Given the description of an element on the screen output the (x, y) to click on. 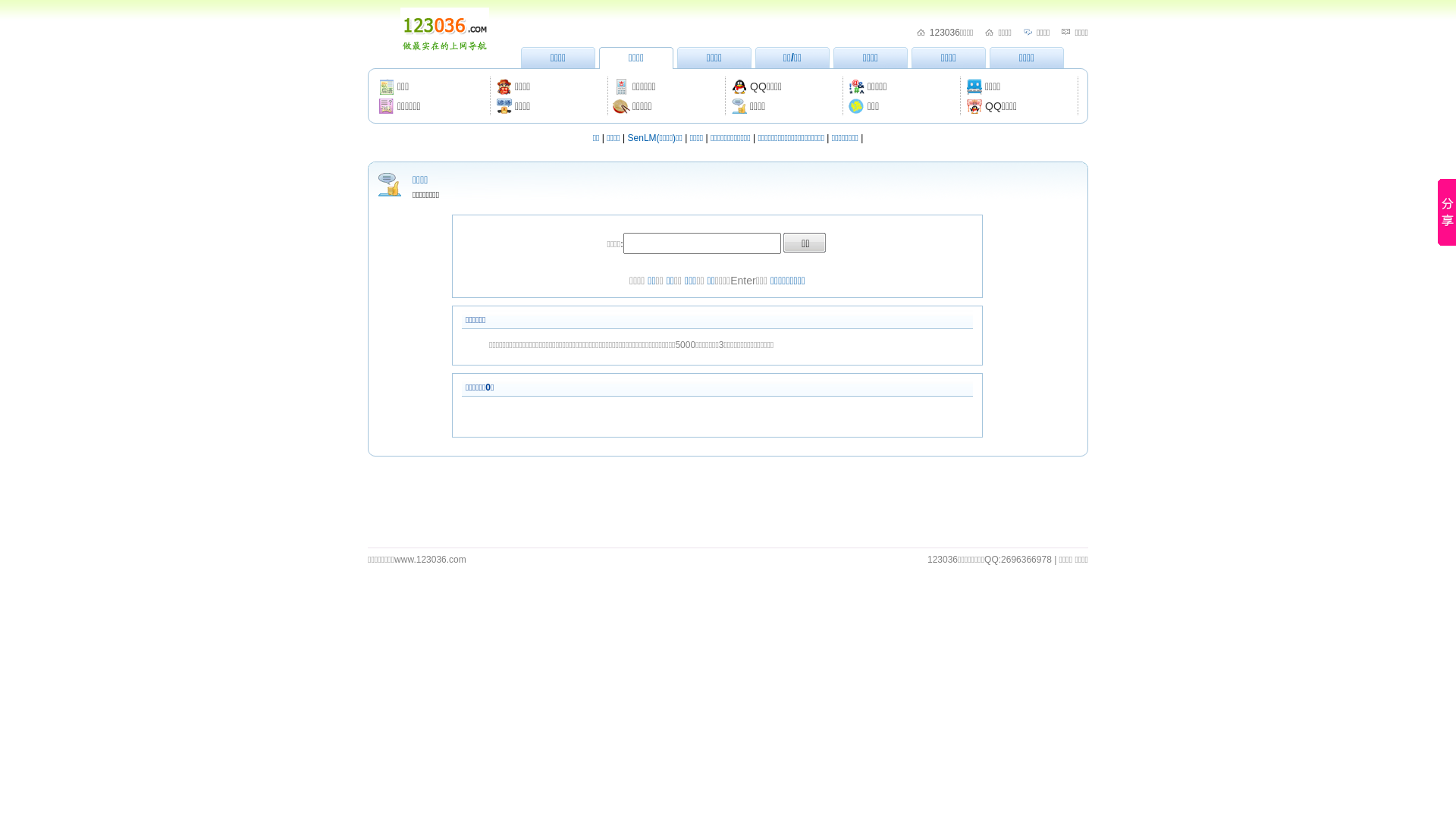
Advertisement Element type: hover (727, 496)
Advertisement Element type: hover (727, 151)
